Given the description of an element on the screen output the (x, y) to click on. 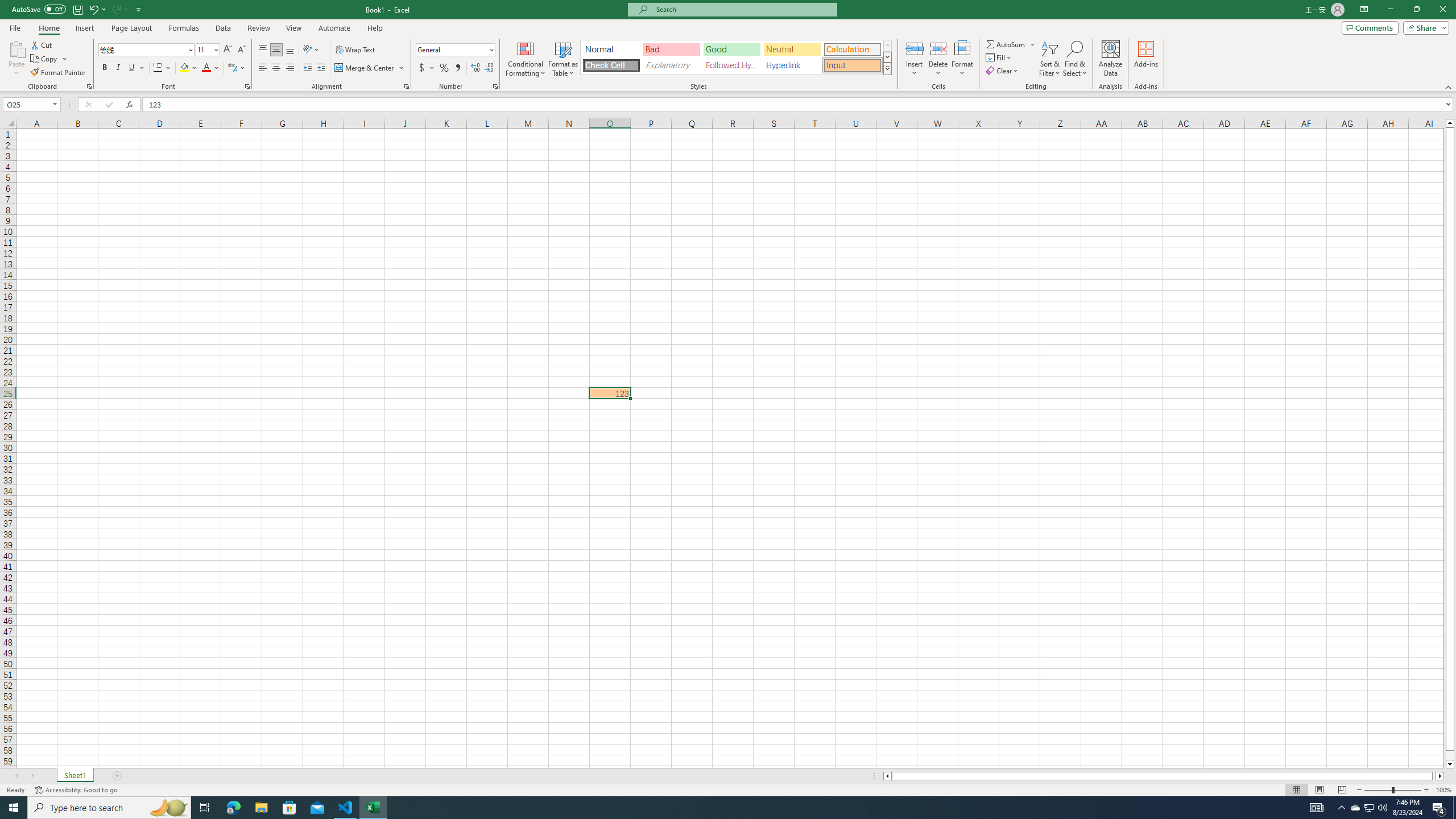
Underline (131, 67)
Insert Cells (914, 48)
Middle Align (276, 49)
Neutral (791, 49)
Show Phonetic Field (236, 67)
Align Right (290, 67)
Input (852, 65)
Accounting Number Format (426, 67)
